Given the description of an element on the screen output the (x, y) to click on. 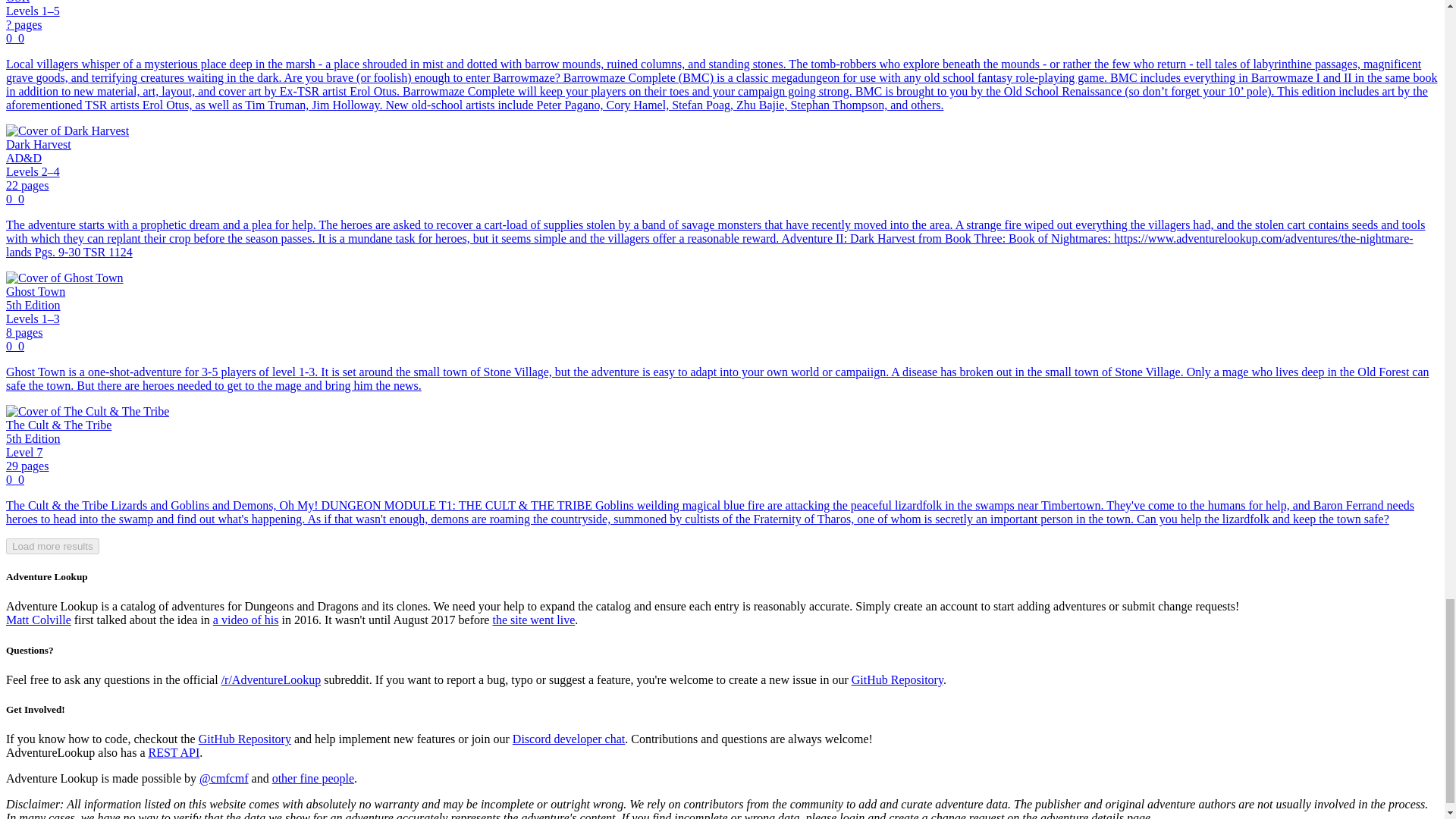
other fine people (312, 778)
REST API (174, 752)
Load more results (52, 546)
a video of his (245, 619)
GitHub Repository (244, 738)
Discord developer chat (568, 738)
GitHub Repository (897, 679)
the site went live (533, 619)
Matt Colville (38, 619)
